Given the description of an element on the screen output the (x, y) to click on. 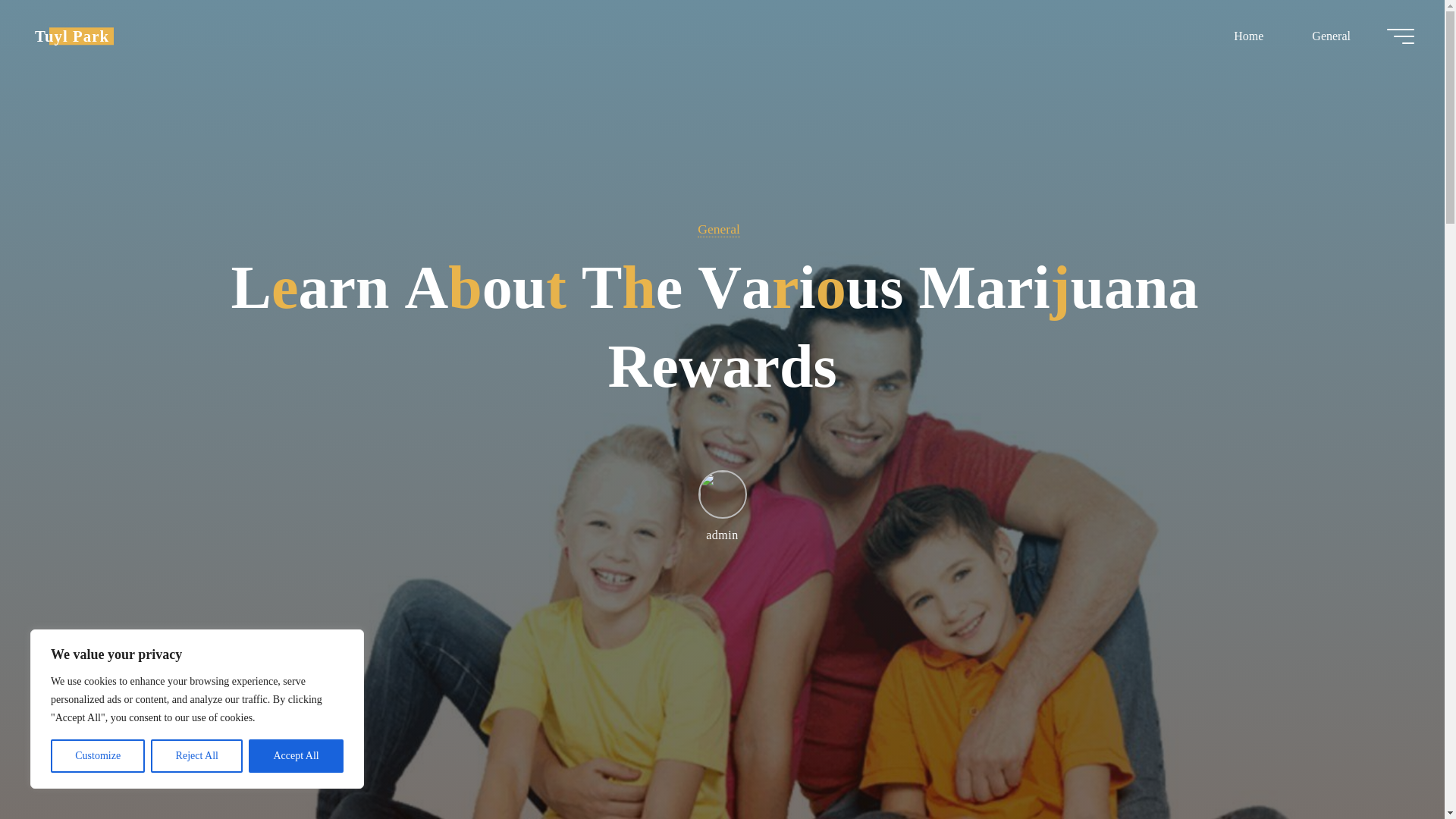
General (718, 229)
Blog (71, 36)
General (1330, 35)
Customize (97, 756)
Read more (721, 724)
View all posts by admin (721, 505)
Accept All (295, 756)
Reject All (197, 756)
admin (721, 505)
Home (1248, 35)
Tuyl Park (71, 36)
